Given the description of an element on the screen output the (x, y) to click on. 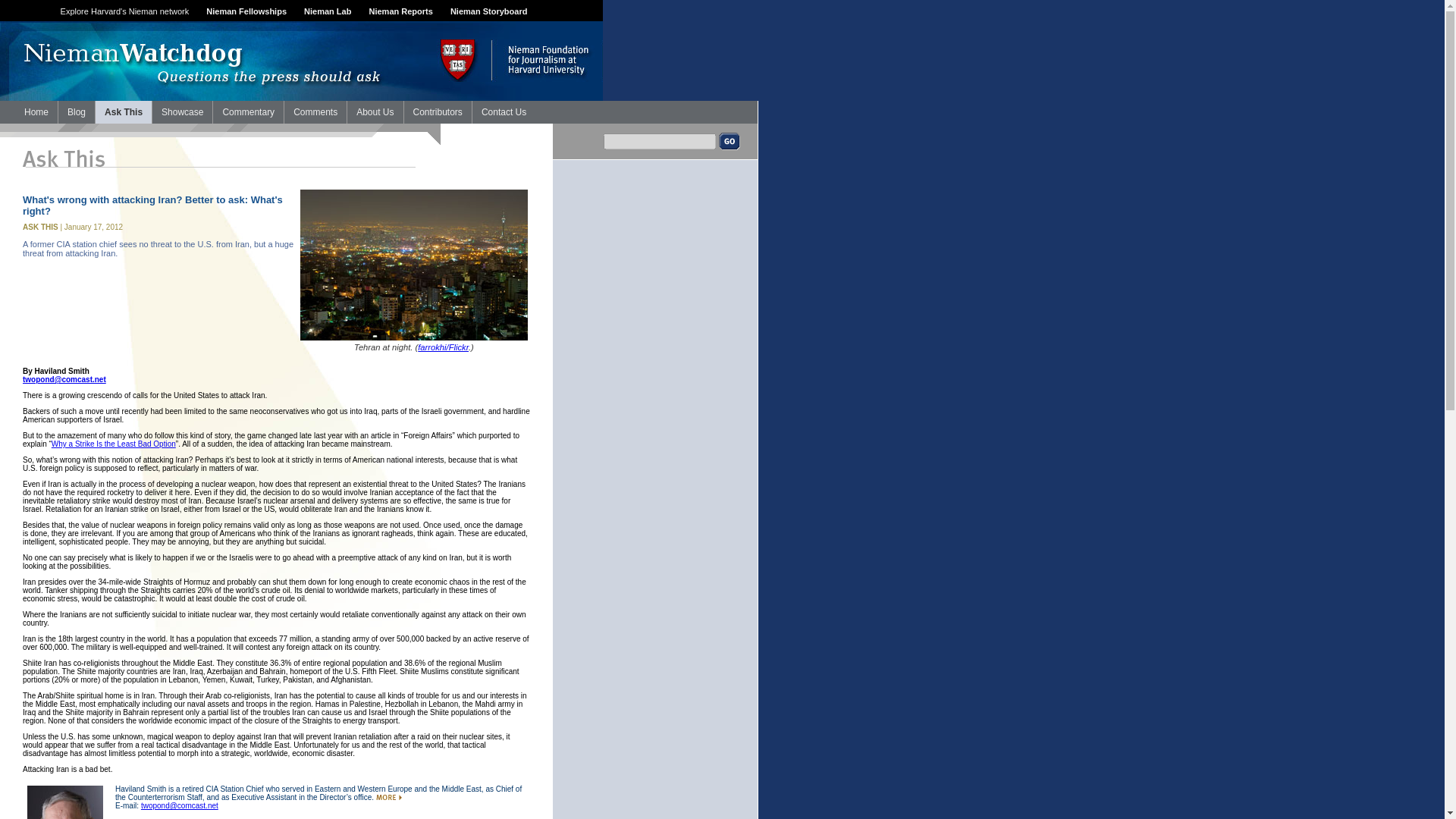
Comments (314, 112)
About Us (375, 112)
Contributors (436, 112)
Nieman Fellowships (246, 10)
Ask This (123, 112)
Home (36, 112)
Showcase (182, 112)
Nieman Reports (400, 10)
Nieman Storyboard (488, 10)
Blog (76, 112)
